Given the description of an element on the screen output the (x, y) to click on. 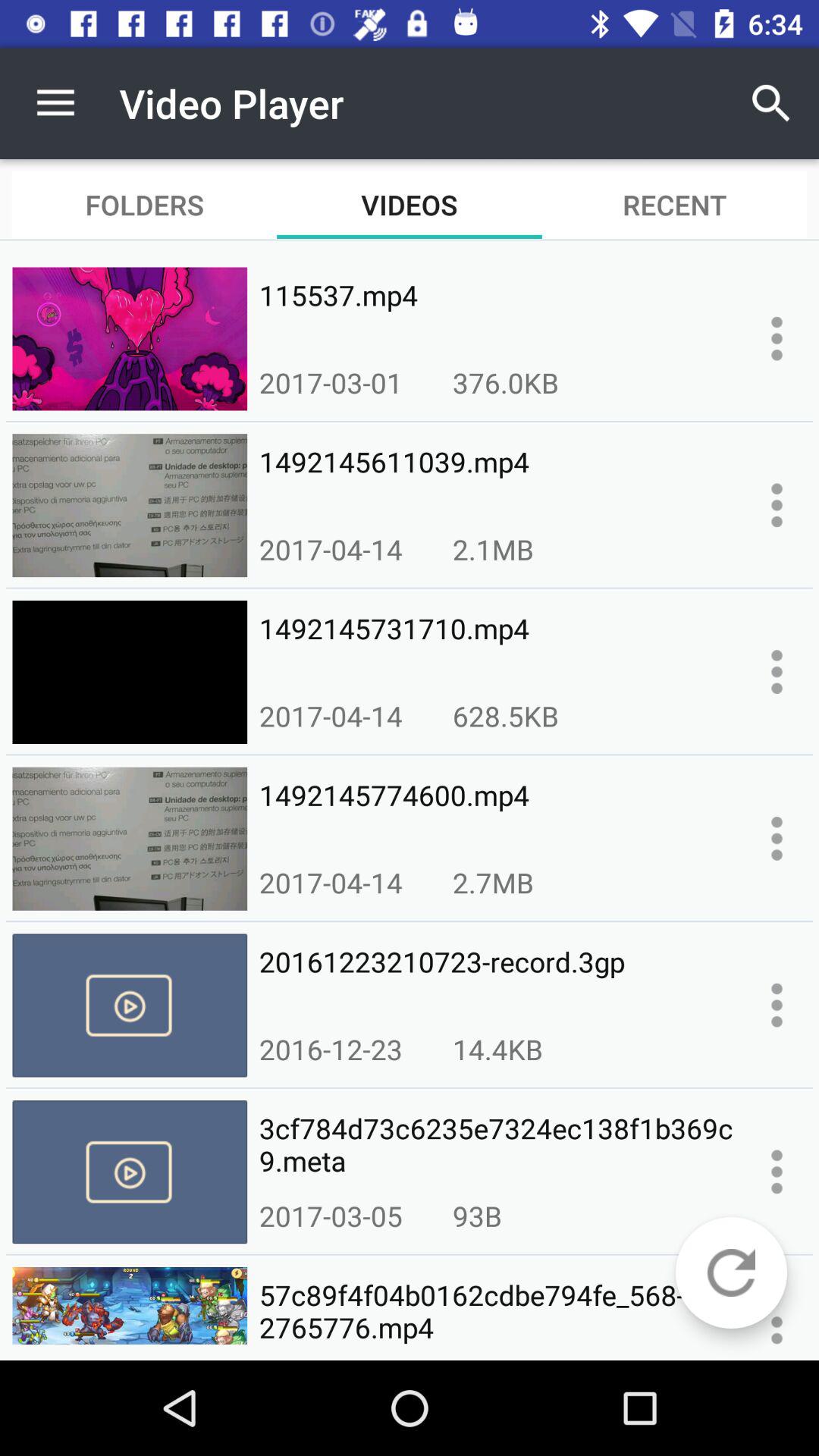
swipe to 57c89f4f04b0162cdbe794fe_568-1472765776.mp4 (496, 1311)
